Given the description of an element on the screen output the (x, y) to click on. 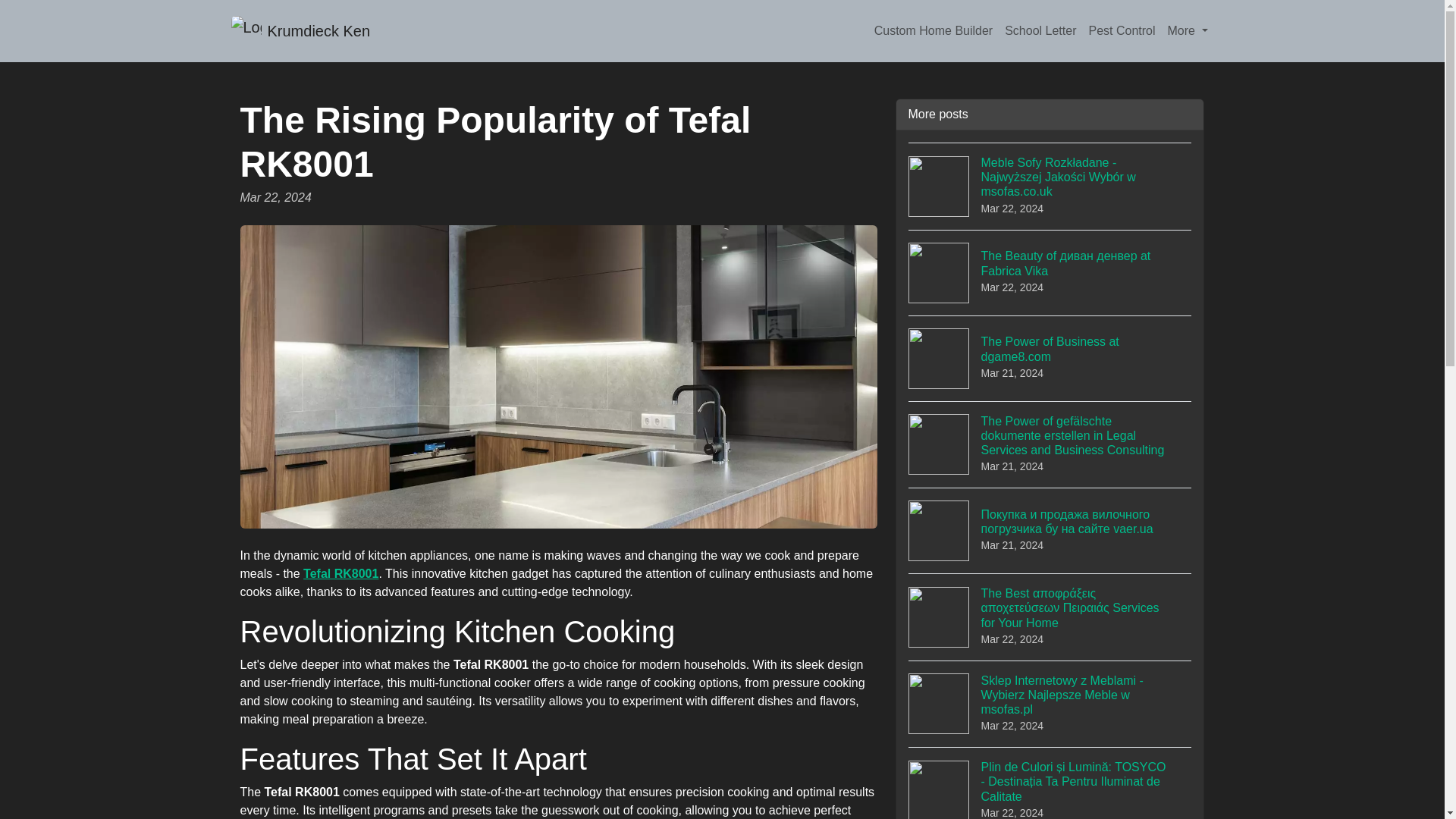
Pest Control (1120, 30)
Custom Home Builder (932, 30)
School Letter (1039, 30)
Krumdieck Ken (299, 30)
More (1187, 30)
Tefal RK8001 (1050, 358)
